Given the description of an element on the screen output the (x, y) to click on. 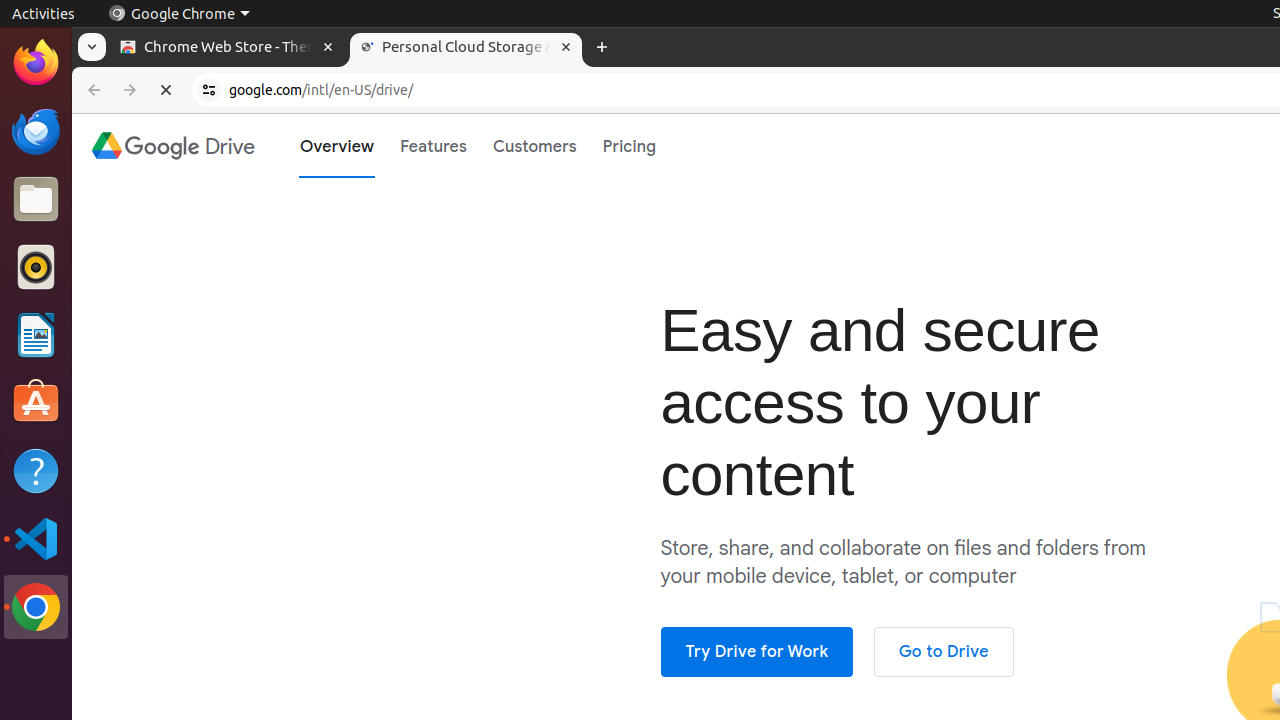
Pricing Element type: link (629, 146)
Google Chrome Element type: push-button (36, 607)
Help Element type: push-button (36, 470)
Back Element type: push-button (91, 90)
Firefox Web Browser Element type: push-button (36, 63)
